Given the description of an element on the screen output the (x, y) to click on. 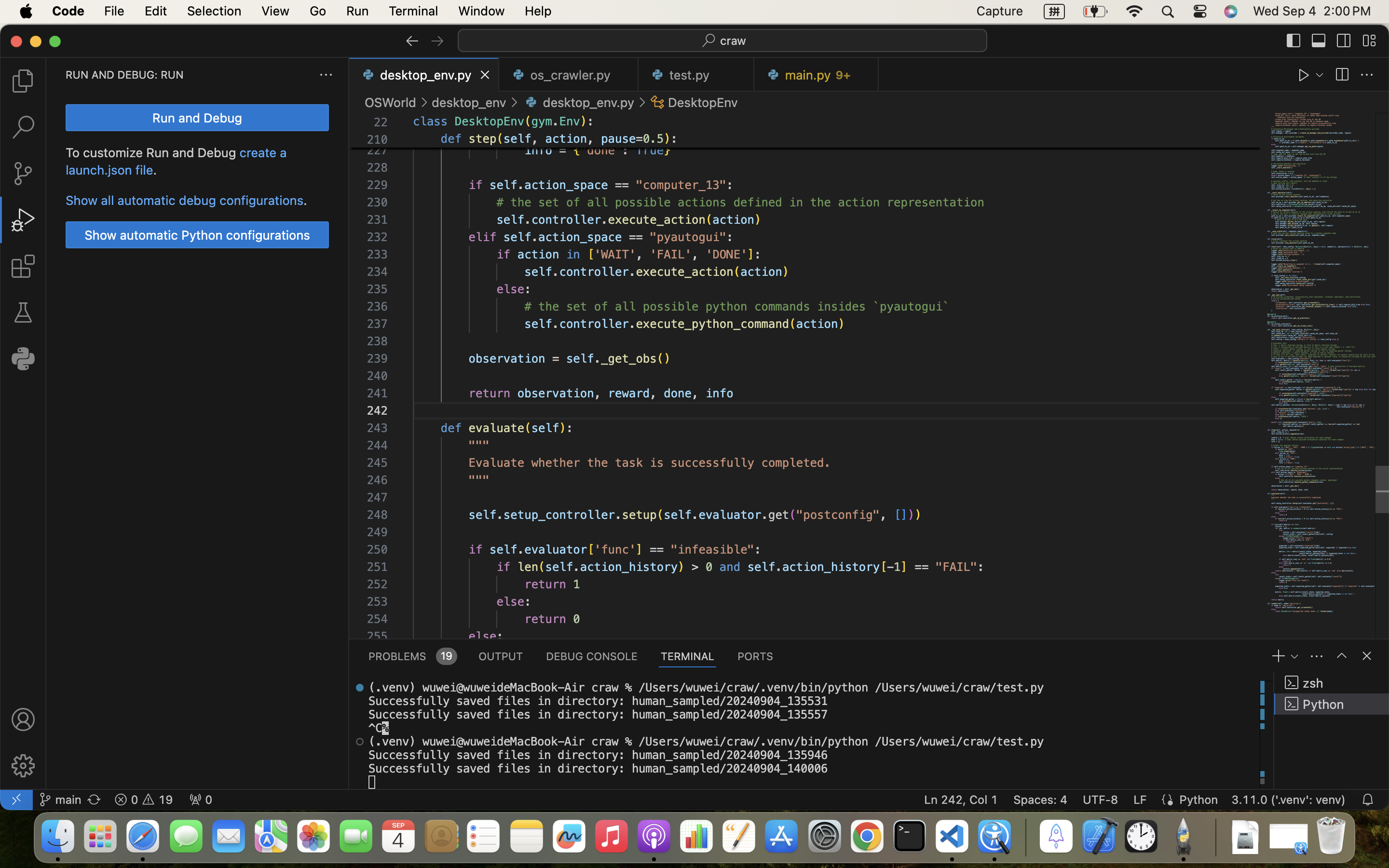
 Element type: AXCheckBox (1344, 40)
 0 Element type: AXButton (200, 799)
 Element type: AXStaticText (1366, 74)
0  Element type: AXRadioButton (23, 266)
22 Element type: AXStaticText (380, 122)
